Given the description of an element on the screen output the (x, y) to click on. 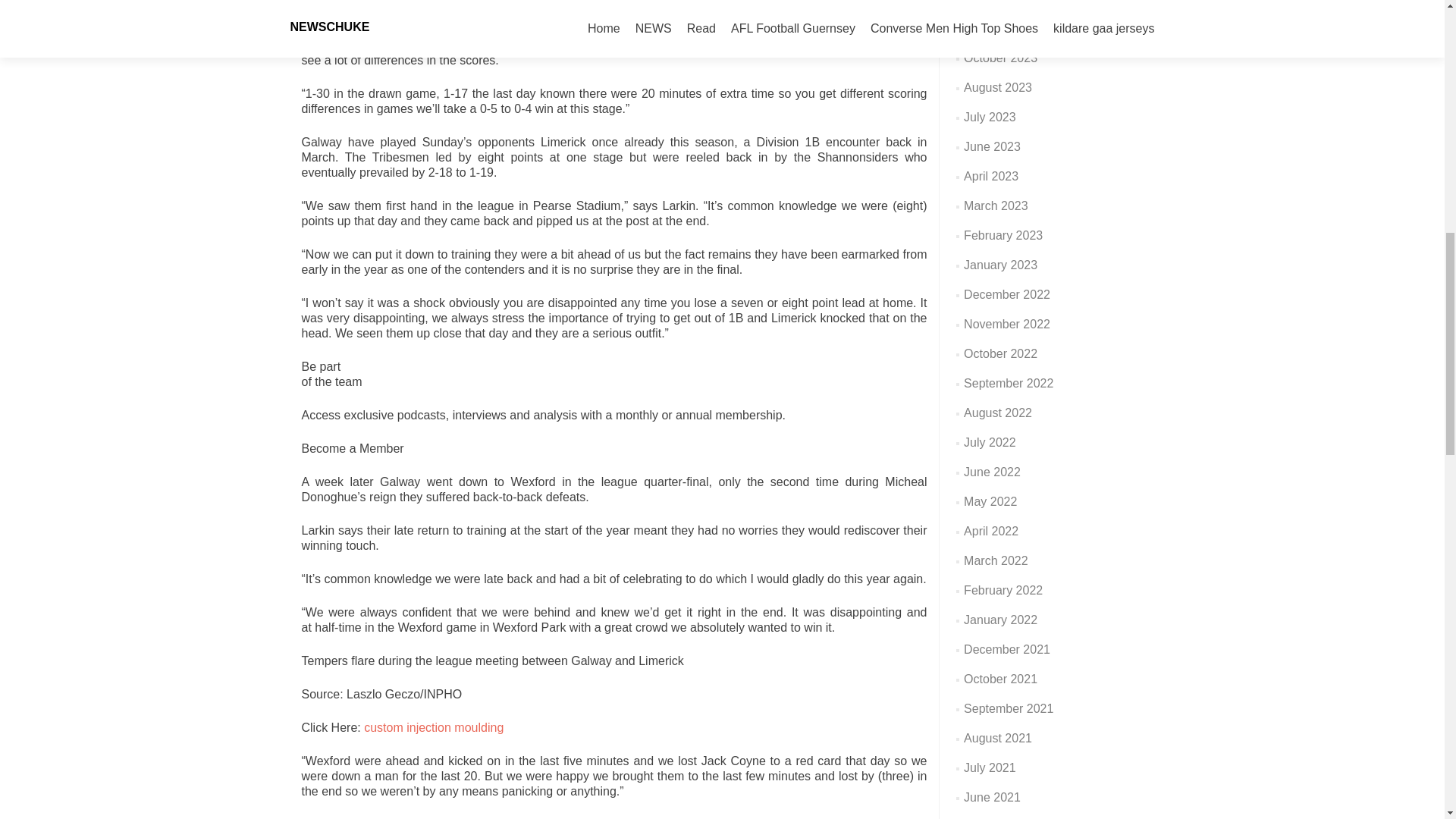
March 2023 (995, 205)
February 2023 (1002, 235)
December 2023 (1006, 2)
custom injection moulding (433, 727)
July 2023 (989, 116)
August 2023 (997, 87)
April 2023 (990, 175)
October 2023 (999, 57)
custom injection moulding (433, 727)
November 2023 (1006, 28)
June 2023 (991, 146)
